Given the description of an element on the screen output the (x, y) to click on. 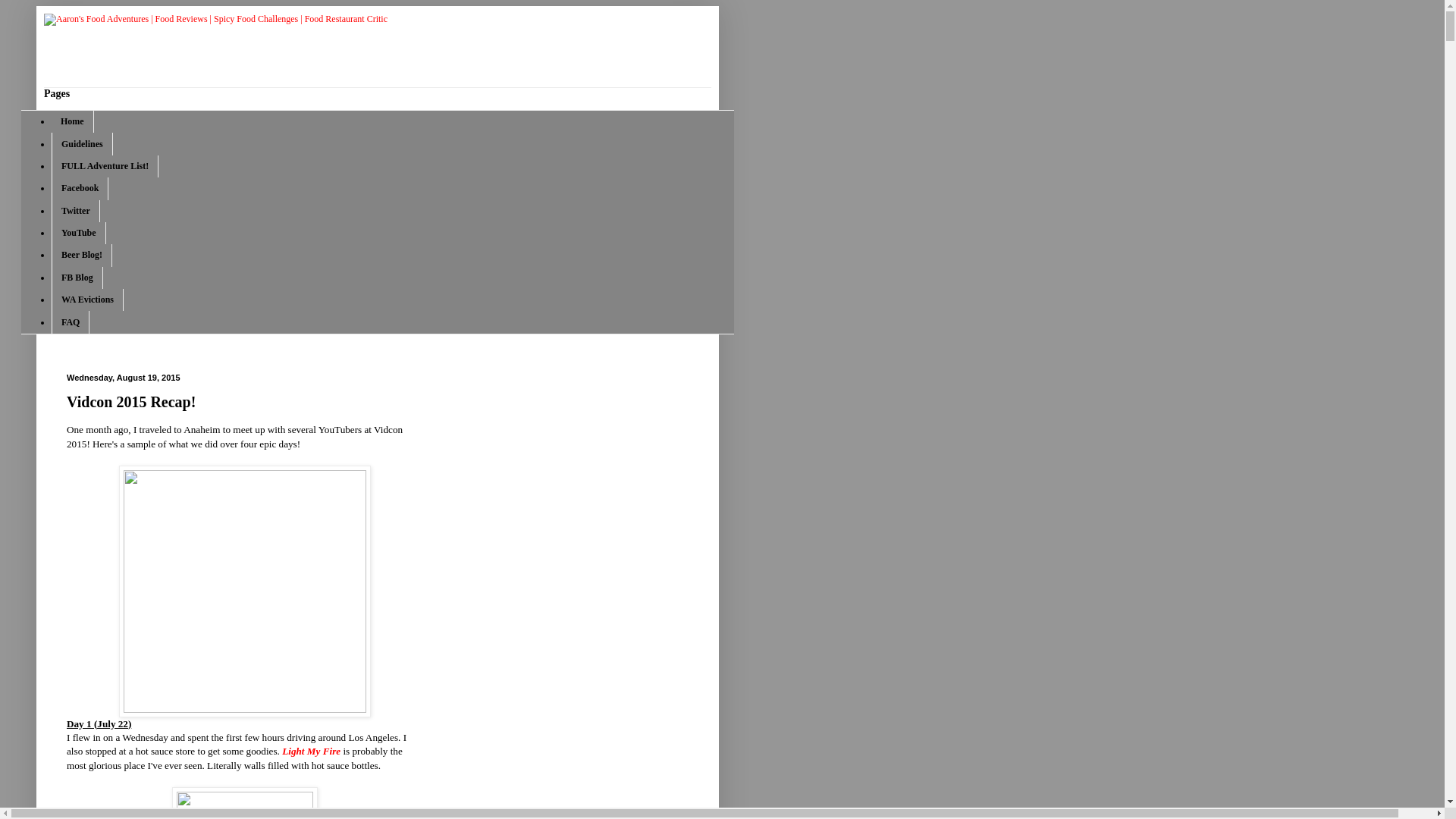
Light My Fire (311, 750)
Twitter (75, 210)
Guidelines (81, 143)
FB Blog (76, 277)
FULL Adventure List! (104, 166)
WA Evictions (86, 300)
Beer Blog! (81, 255)
FAQ (69, 321)
Home (72, 121)
YouTube (78, 232)
Facebook (78, 188)
